Given the description of an element on the screen output the (x, y) to click on. 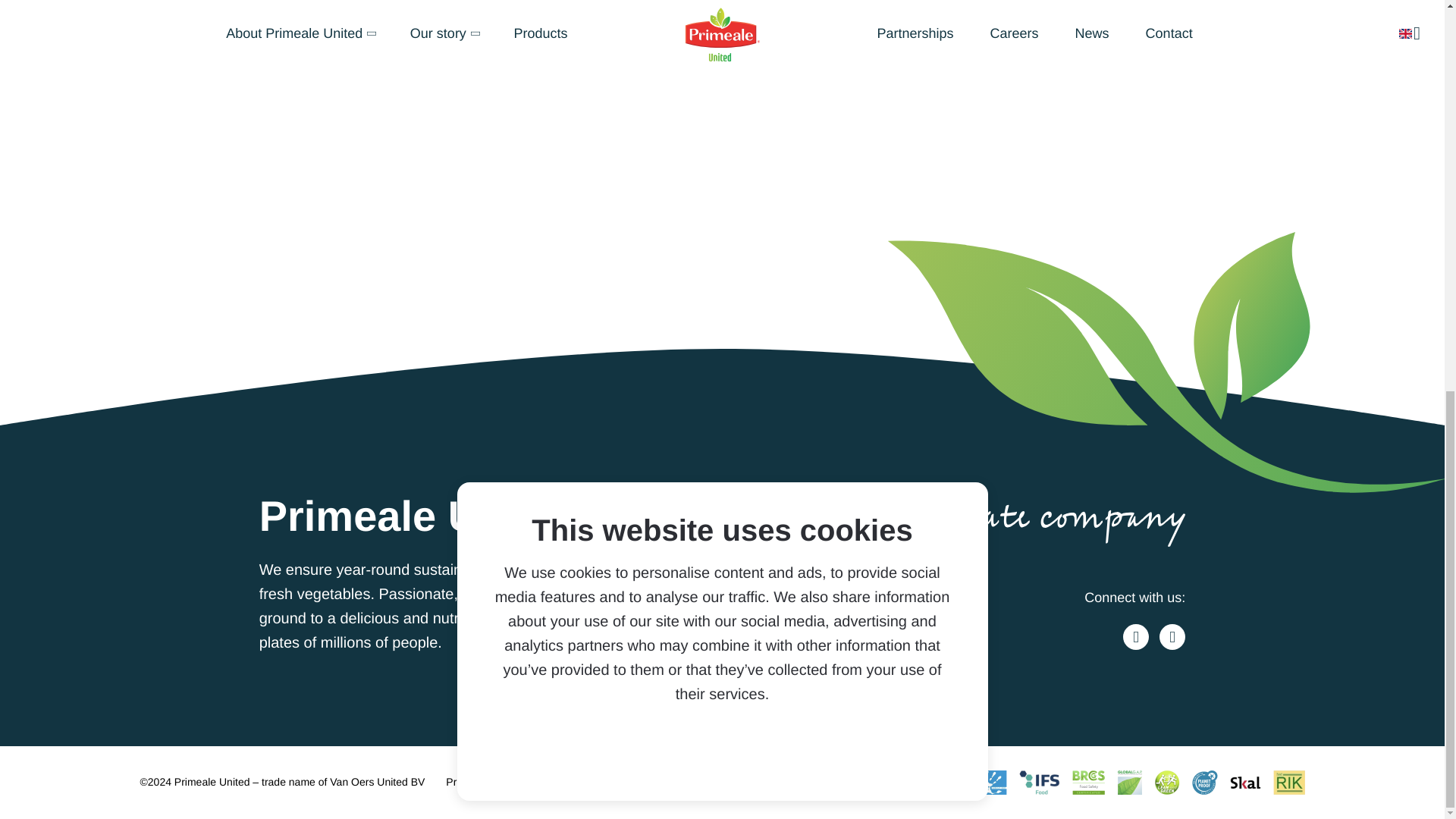
Privacy (462, 782)
Facebook (1135, 637)
Terms of Use (533, 782)
ALLOW ALL (649, 14)
Terms and conditions of sale (653, 782)
SHOW DETAILS (782, 14)
LinkedIn (1171, 637)
